Given the description of an element on the screen output the (x, y) to click on. 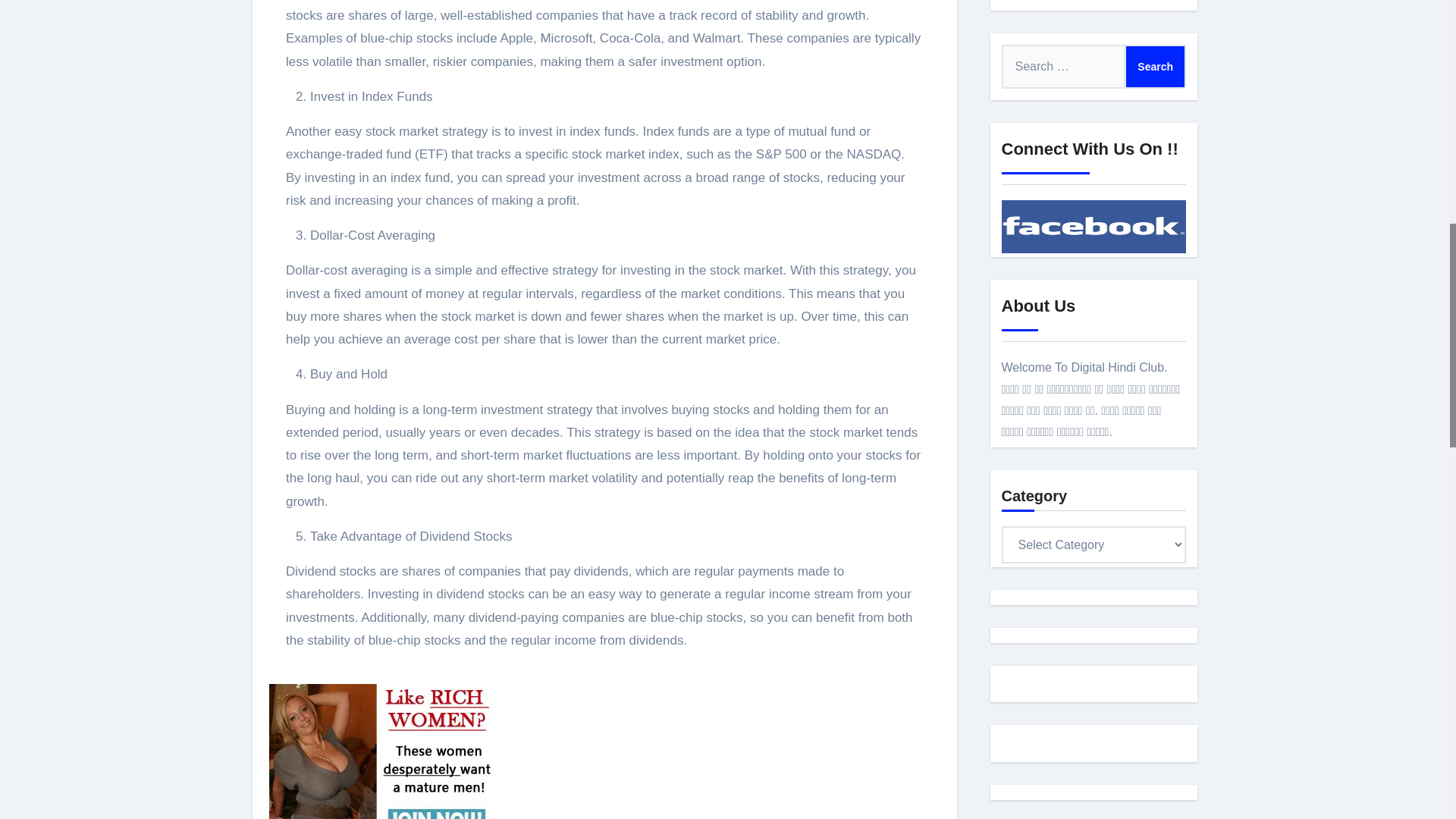
Search (1155, 66)
Search (1155, 66)
